Given the description of an element on the screen output the (x, y) to click on. 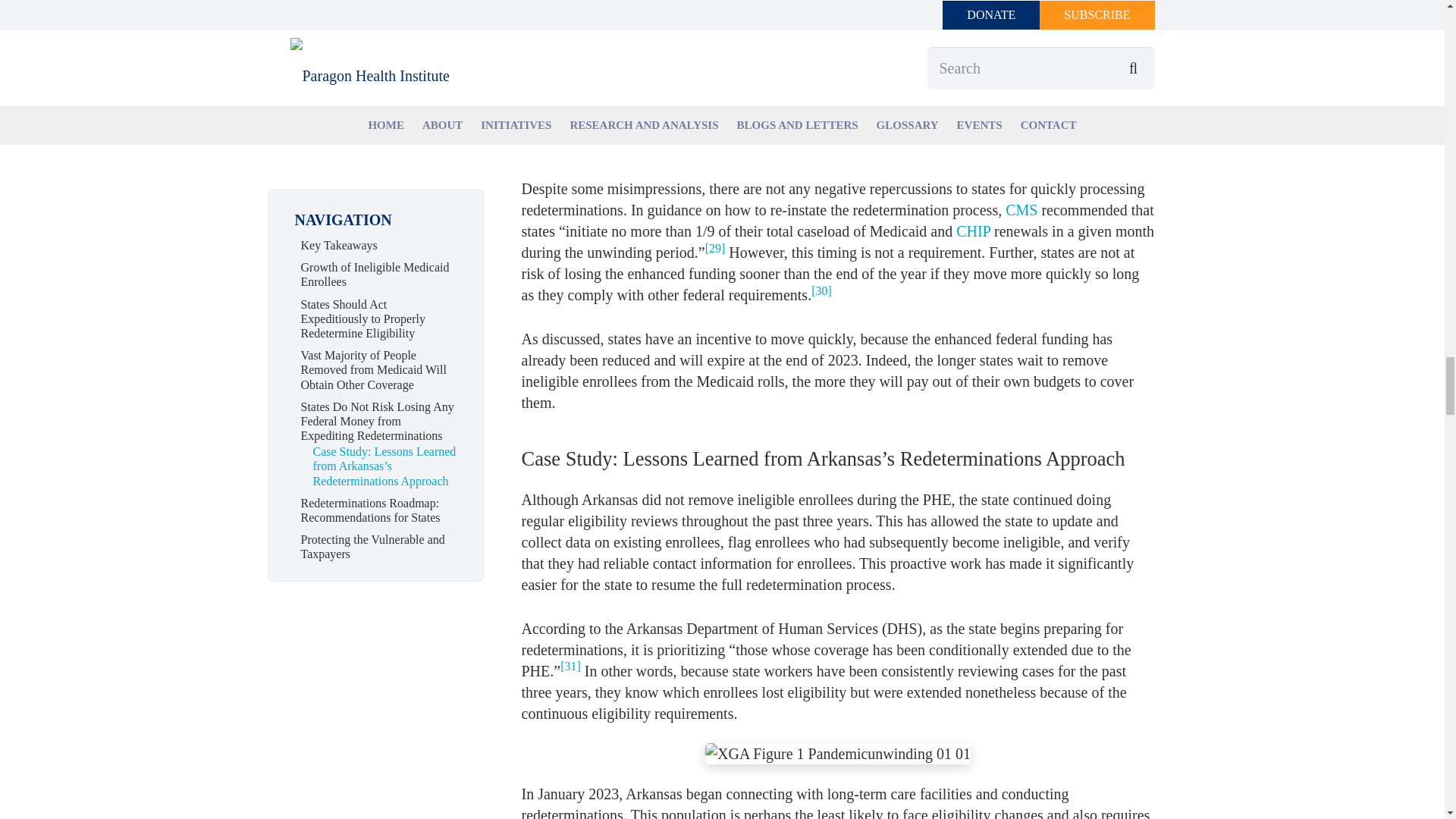
29 (714, 247)
31 (570, 665)
28 (726, 16)
30 (820, 290)
